Given the description of an element on the screen output the (x, y) to click on. 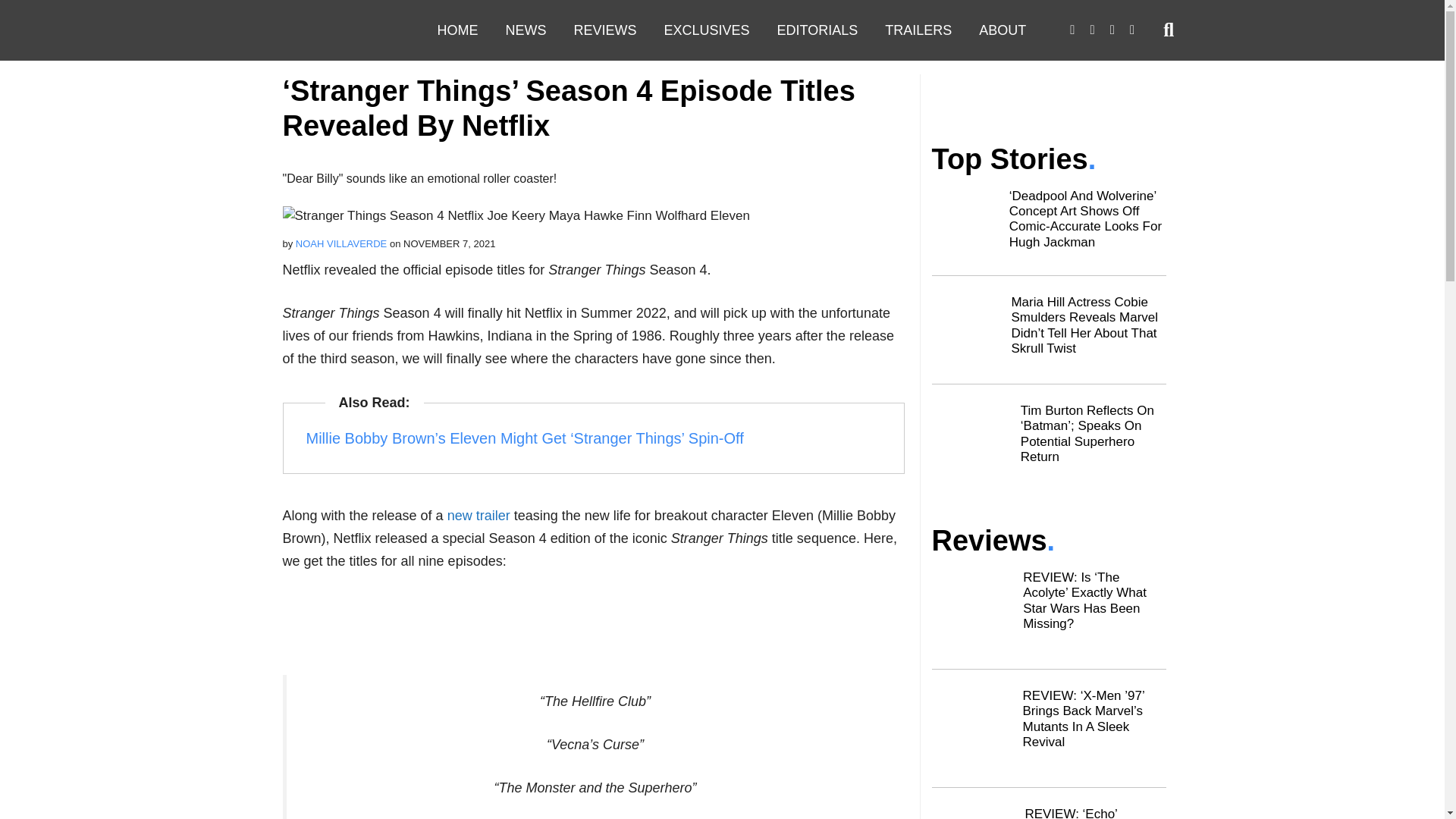
TRAILERS (917, 30)
HOME (457, 30)
EXCLUSIVES (706, 30)
NEWS (525, 30)
2021-11-07 (449, 243)
REVIEWS (604, 30)
ABOUT (1002, 30)
EDITORIALS (817, 30)
